Given the description of an element on the screen output the (x, y) to click on. 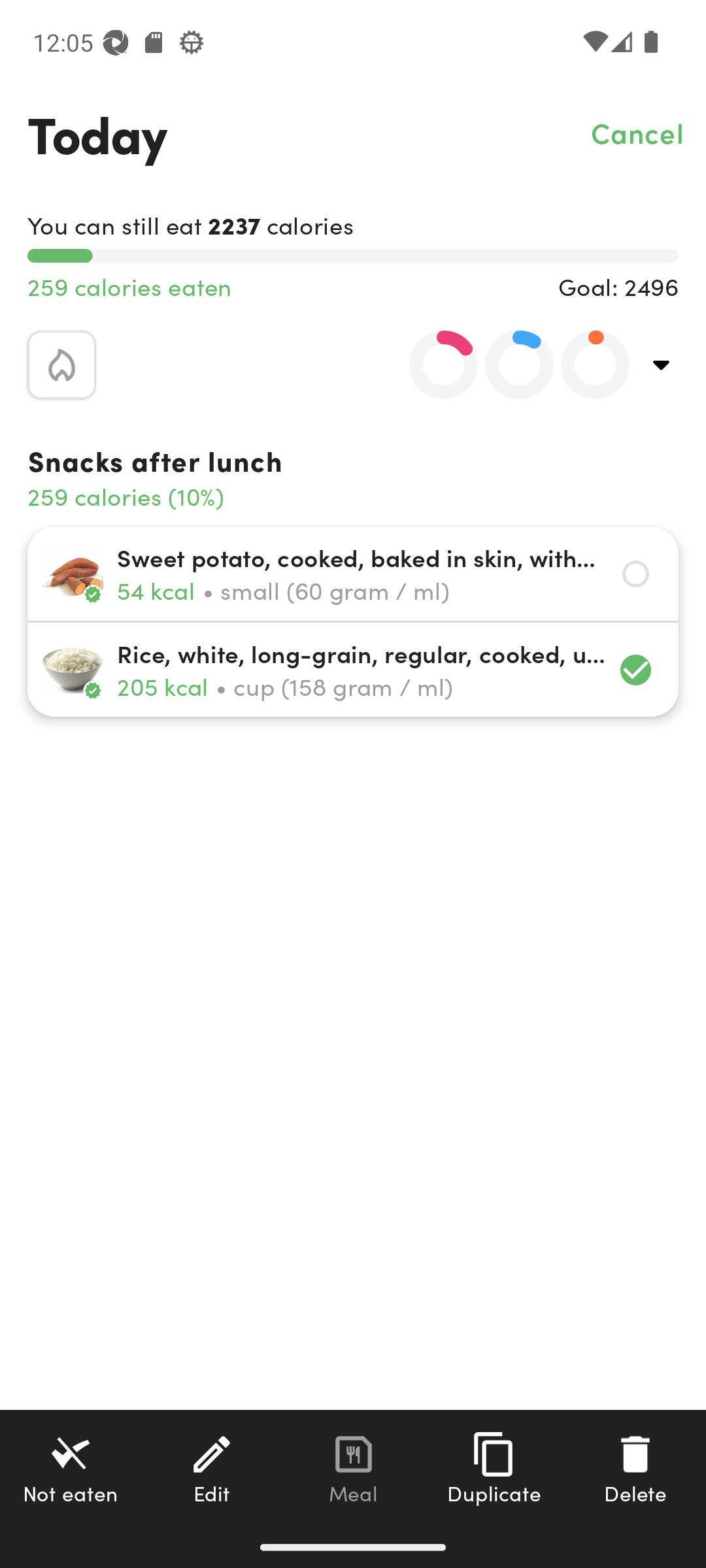
Cancel (637, 132)
calorie_icon (62, 365)
0.15 0.09 0.01 (508, 365)
top_right_action (661, 365)
Not eaten (70, 1468)
Edit (211, 1468)
Meal (352, 1468)
Duplicate (493, 1468)
Delete (635, 1468)
